Given the description of an element on the screen output the (x, y) to click on. 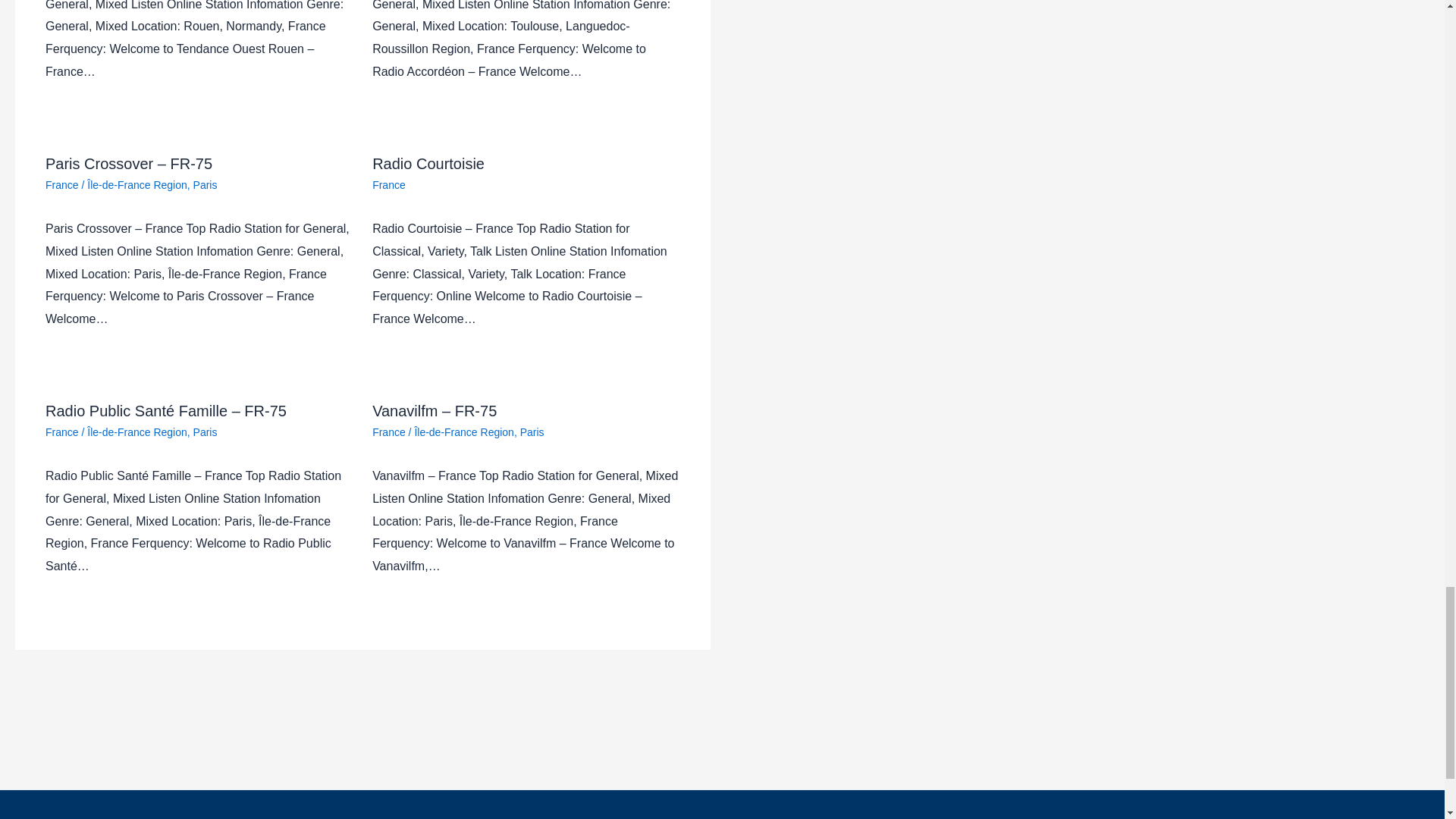
France (61, 184)
Paris (204, 184)
